Given the description of an element on the screen output the (x, y) to click on. 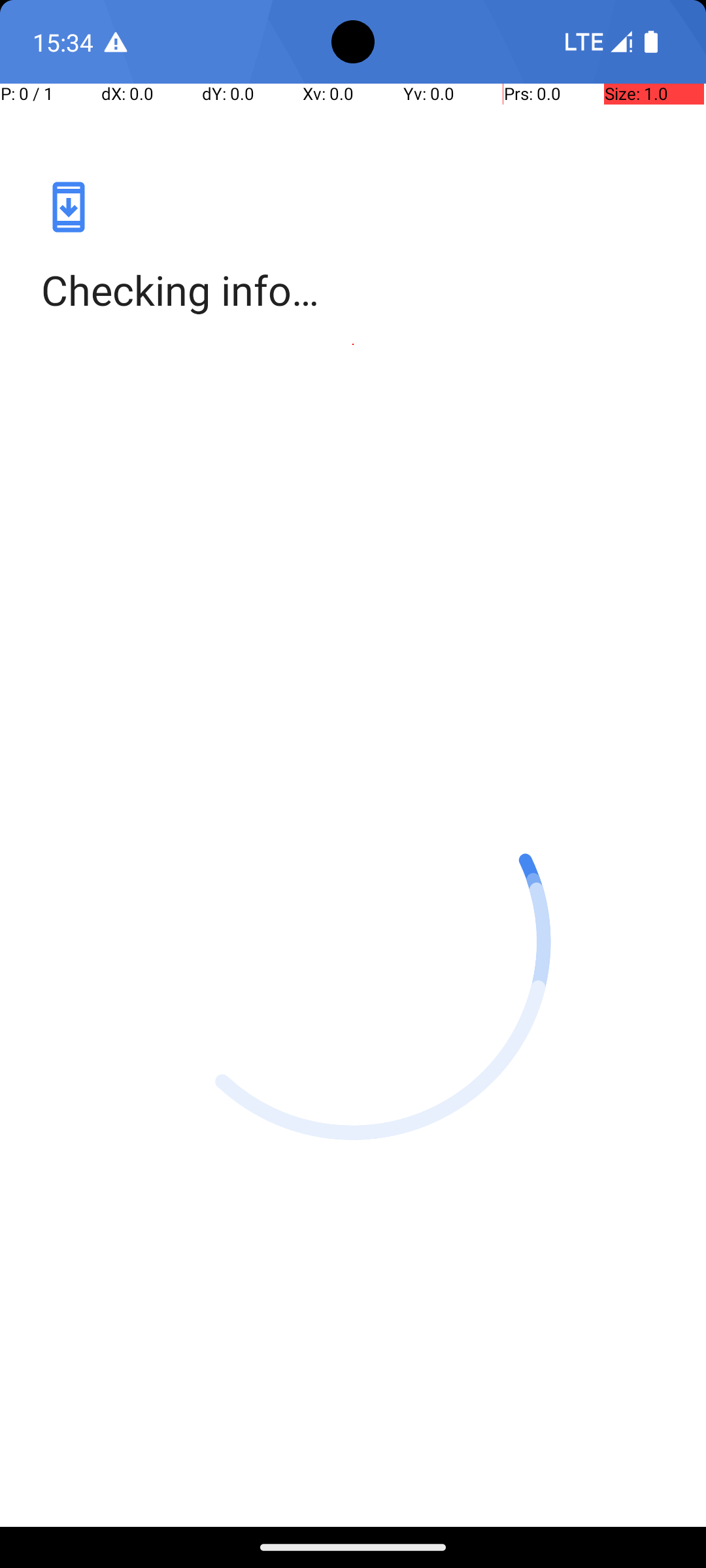
Checking info… Element type: android.widget.TextView (352, 289)
